Given the description of an element on the screen output the (x, y) to click on. 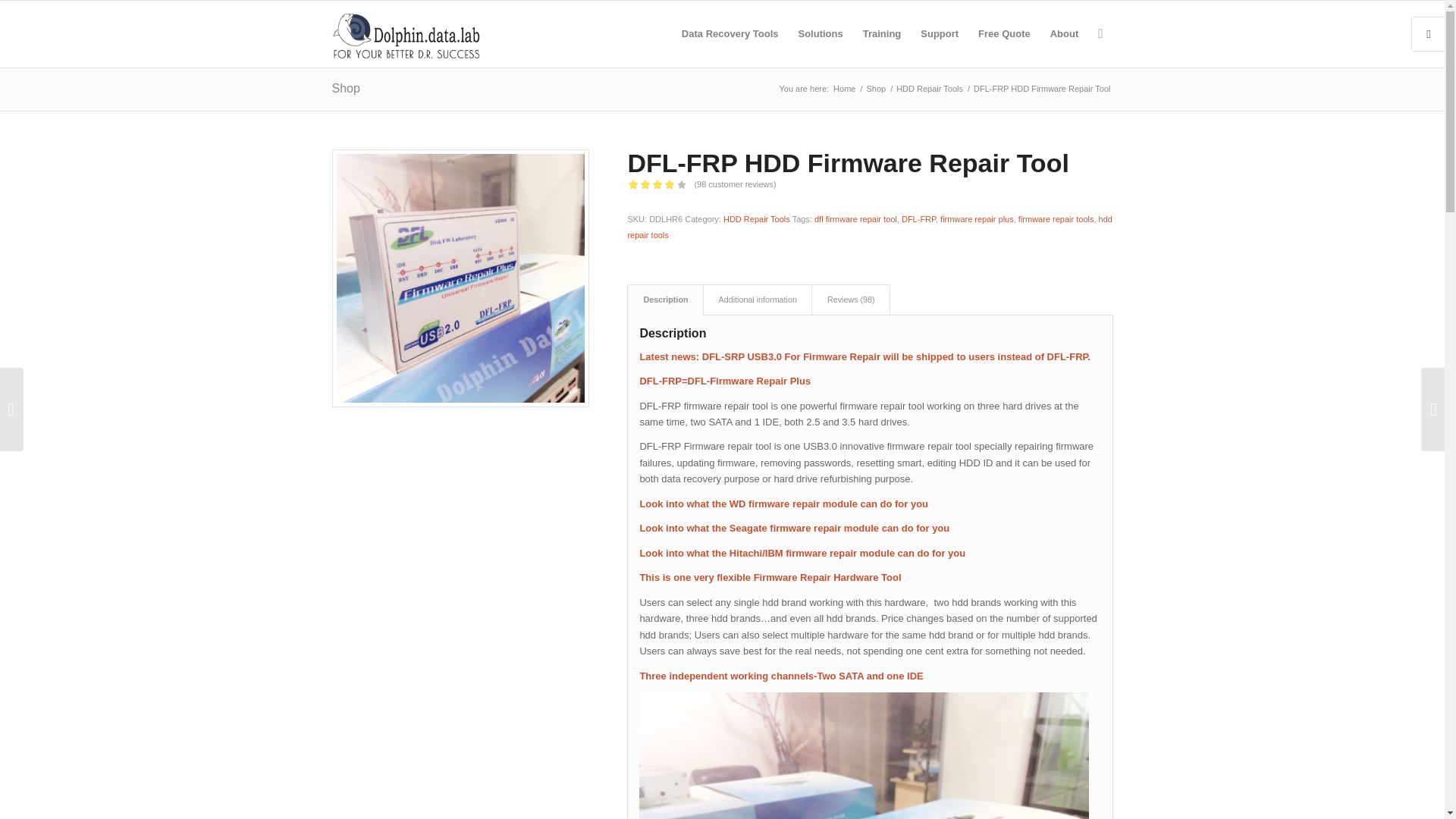
Hitachi firmware repair tool by Dolphin Data Lab (802, 552)
Seagate Firmware Repair Tool BY Dolphin Data Lab (794, 527)
Permanent Link: Shop (345, 88)
Solutions (821, 33)
Training (882, 33)
Shop (875, 89)
Data Recovery Tools (730, 33)
WD firmware repair tool by Dolphin Data Lab (783, 503)
Dolphin Data Lab (844, 89)
Additional information (757, 298)
Description (665, 298)
HDD Repair Tools (929, 89)
Dolphin Data Lab Logo (405, 33)
